Given the description of an element on the screen output the (x, y) to click on. 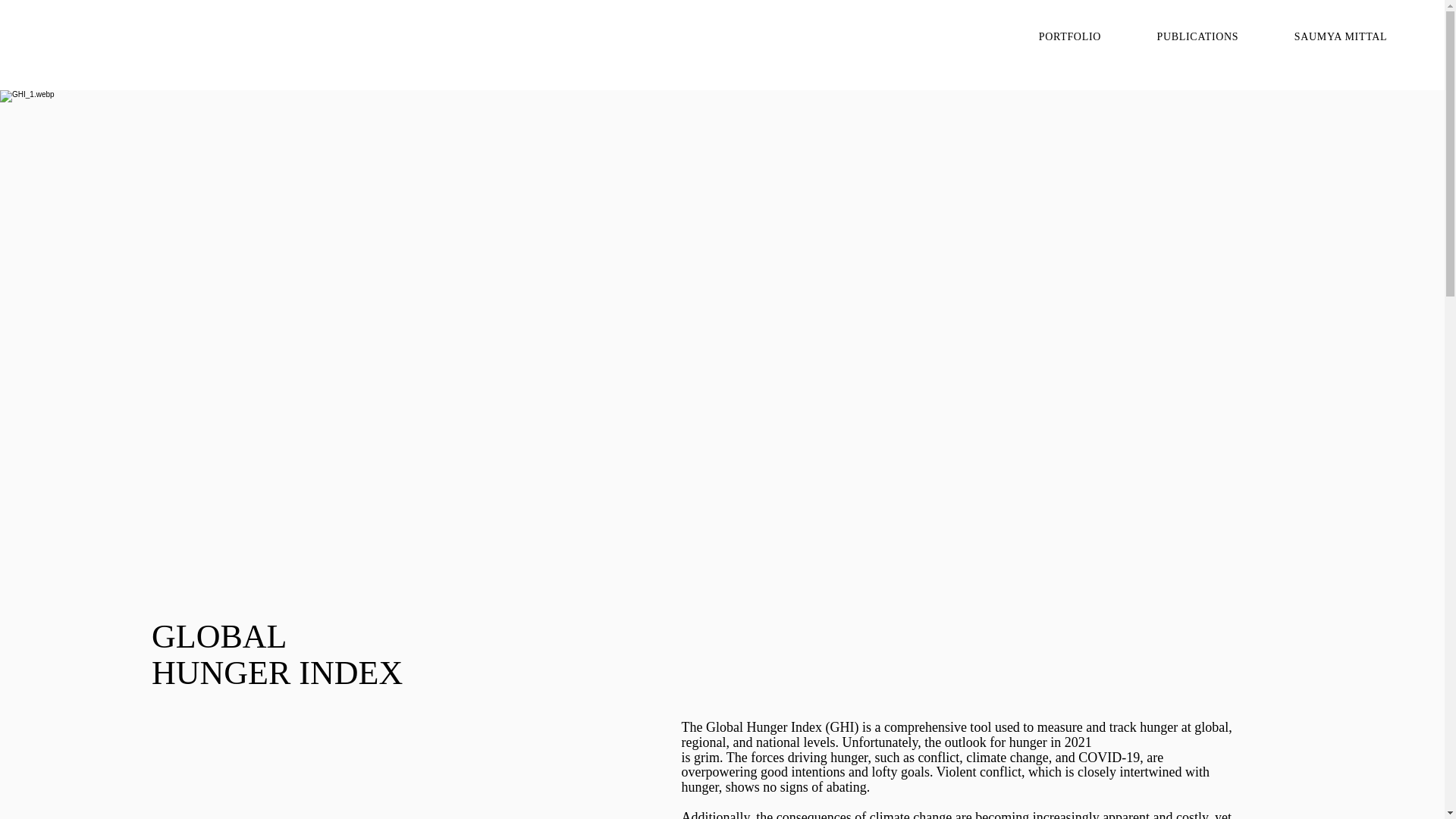
SAUMYA MITTAL (1340, 36)
PUBLICATIONS (1197, 36)
PORTFOLIO (1069, 36)
